Given the description of an element on the screen output the (x, y) to click on. 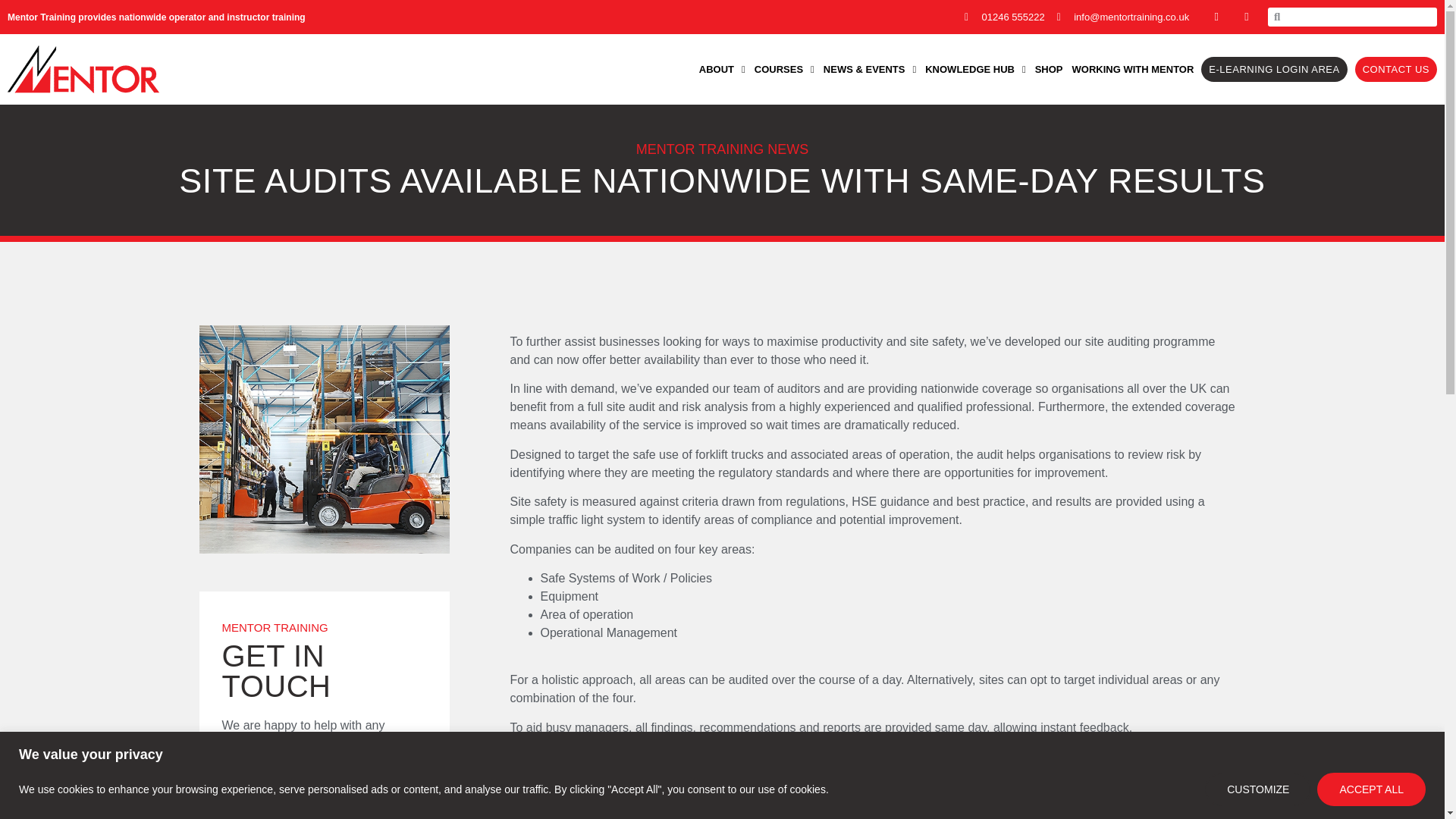
01246 555222 (1004, 17)
COURSES (783, 69)
ACCEPT ALL (1371, 788)
CUSTOMIZE (1258, 788)
ABOUT (721, 69)
